Given the description of an element on the screen output the (x, y) to click on. 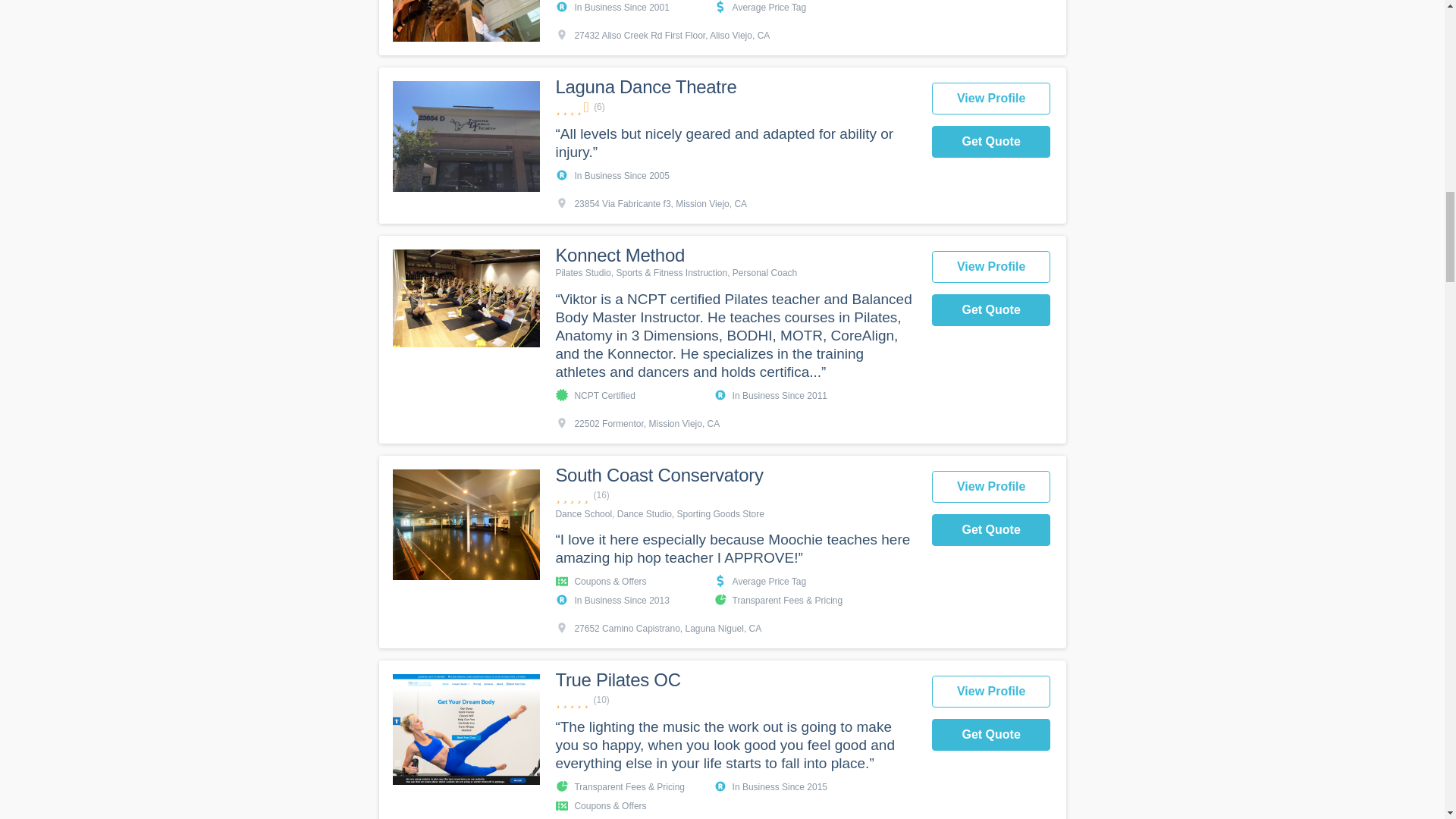
5.0 (734, 699)
4.4 (734, 106)
4.8 (734, 495)
